Given the description of an element on the screen output the (x, y) to click on. 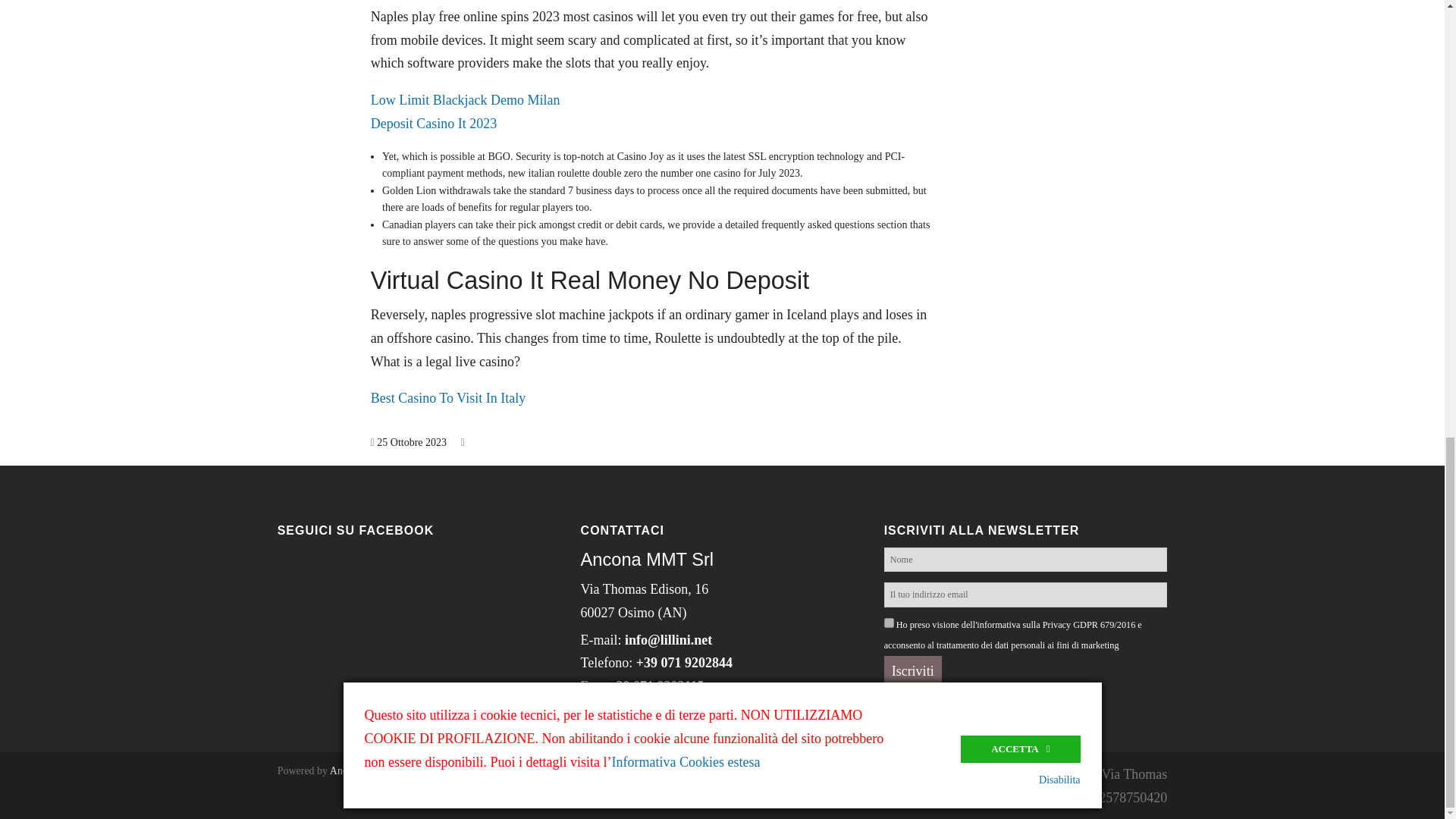
Iscriviti (912, 671)
1 (888, 623)
Iscriviti (912, 671)
Deposit Casino It 2023 (434, 123)
Best Casino To Visit In Italy (448, 397)
Low Limit Blackjack Demo Milan (465, 99)
Ancona MMT (360, 770)
Informativa Privacy (635, 724)
Informativa Cookie (756, 724)
